Given the description of an element on the screen output the (x, y) to click on. 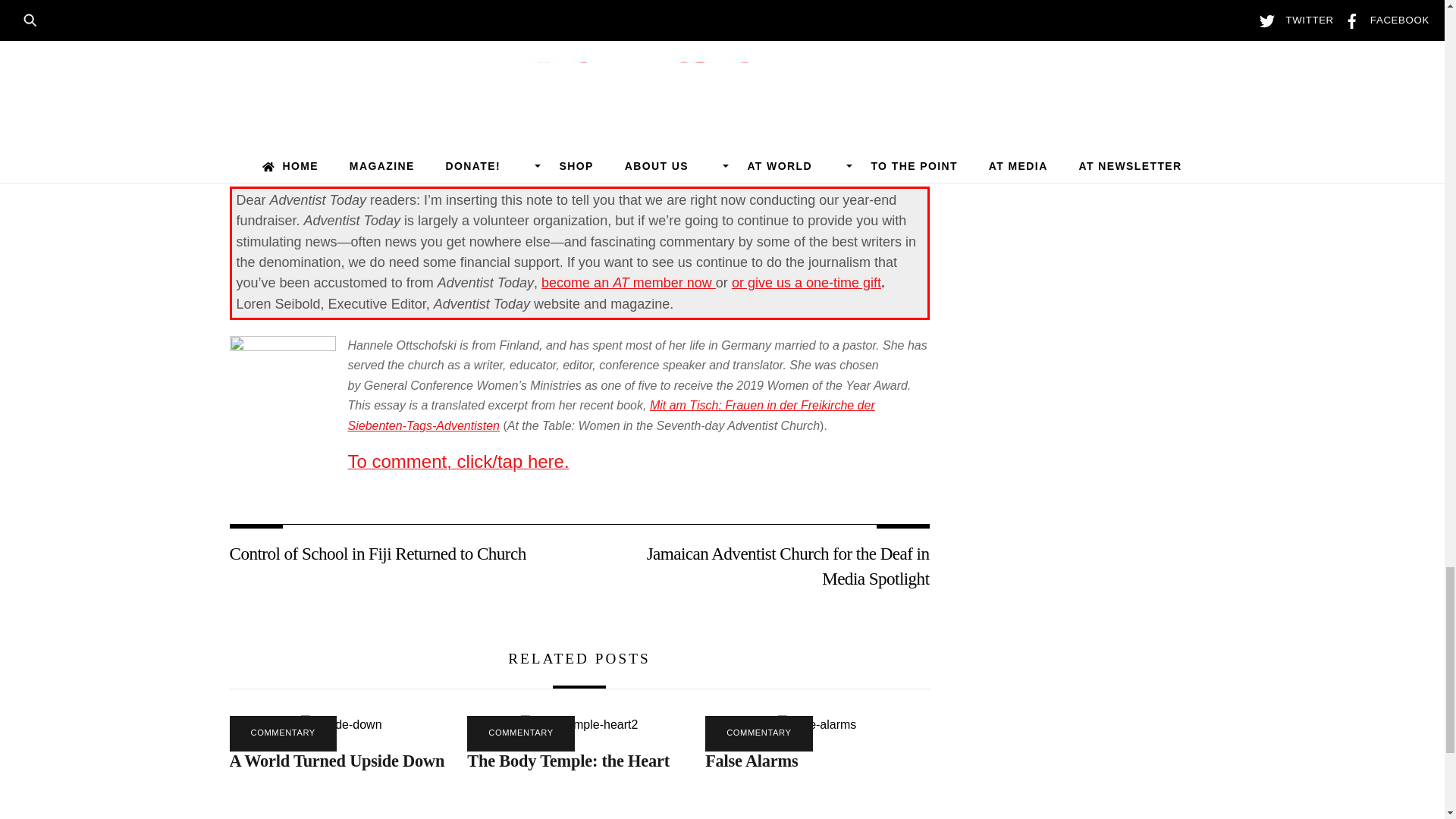
false-alarms (816, 724)
upside-down (341, 724)
body-temple-heart2 (580, 724)
